Given the description of an element on the screen output the (x, y) to click on. 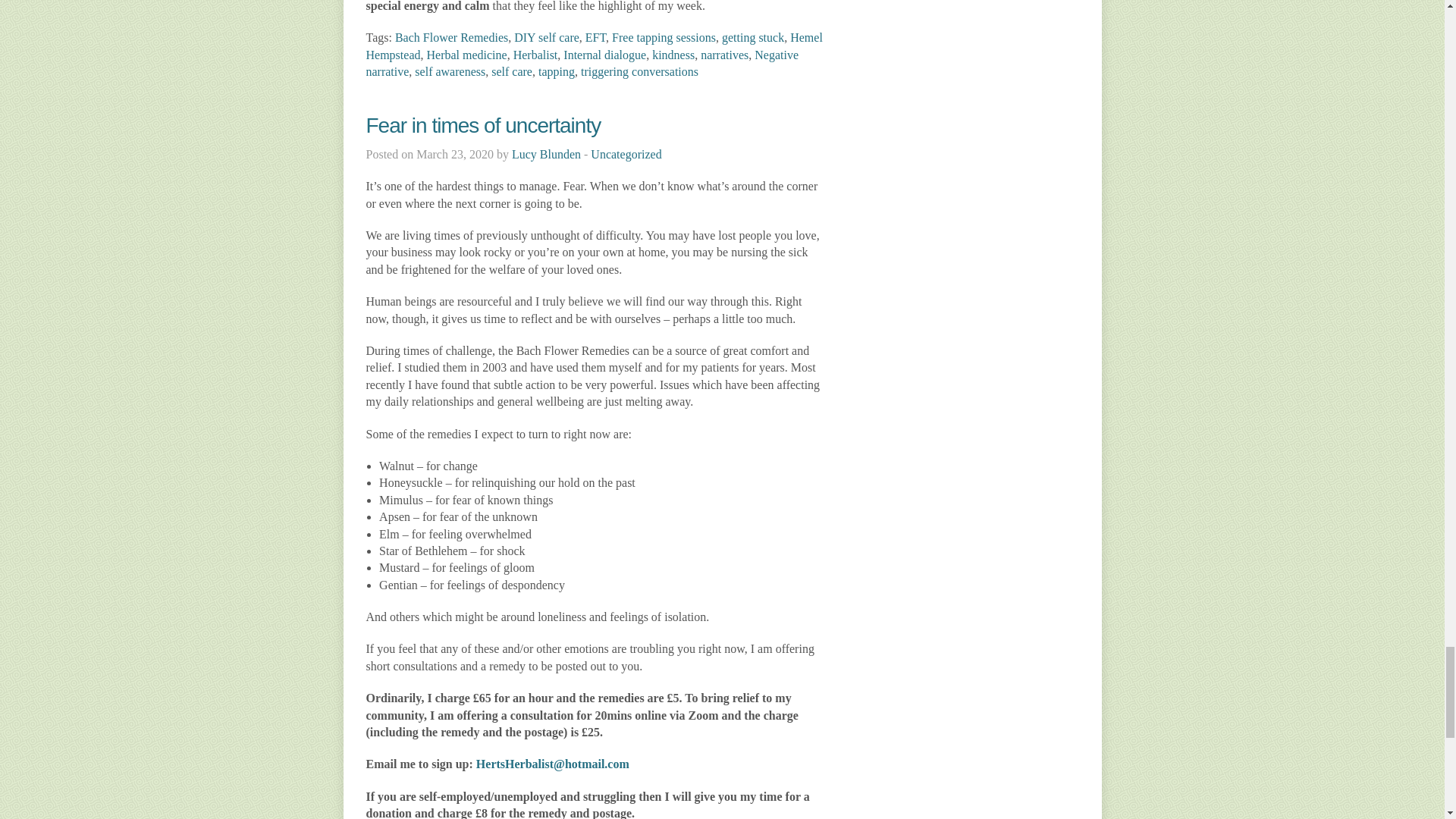
Fear in times of uncertainty (482, 125)
Posts by Lucy Blunden (546, 154)
